Given the description of an element on the screen output the (x, y) to click on. 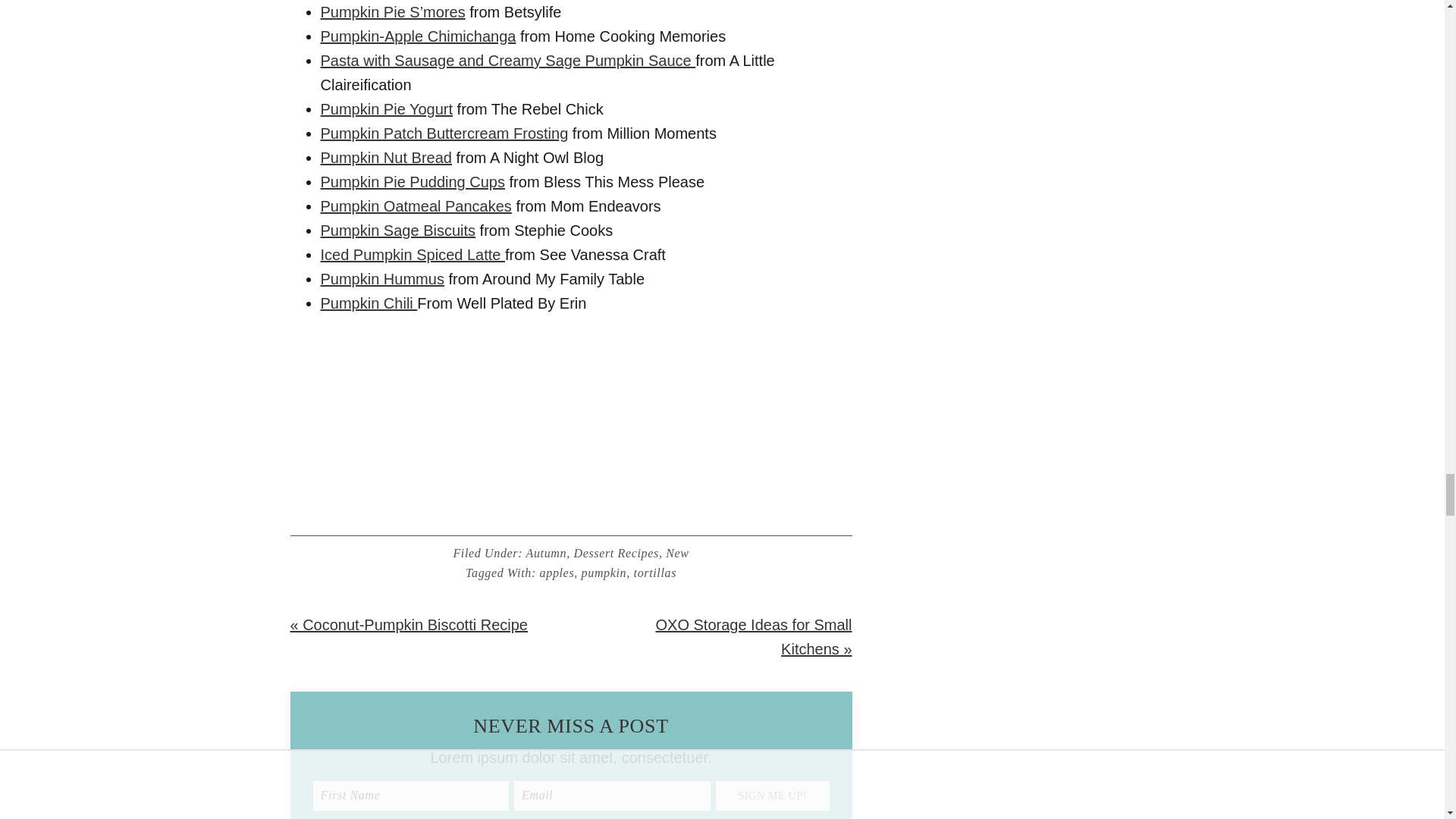
Pumpkin-Apple Chimichanga (417, 36)
Pumpkin Pie Yogurt (386, 108)
Pasta with Sausage and Creamy Sage Pumpkin Sauce (507, 60)
SIGN ME UP! (772, 795)
